Given the description of an element on the screen output the (x, y) to click on. 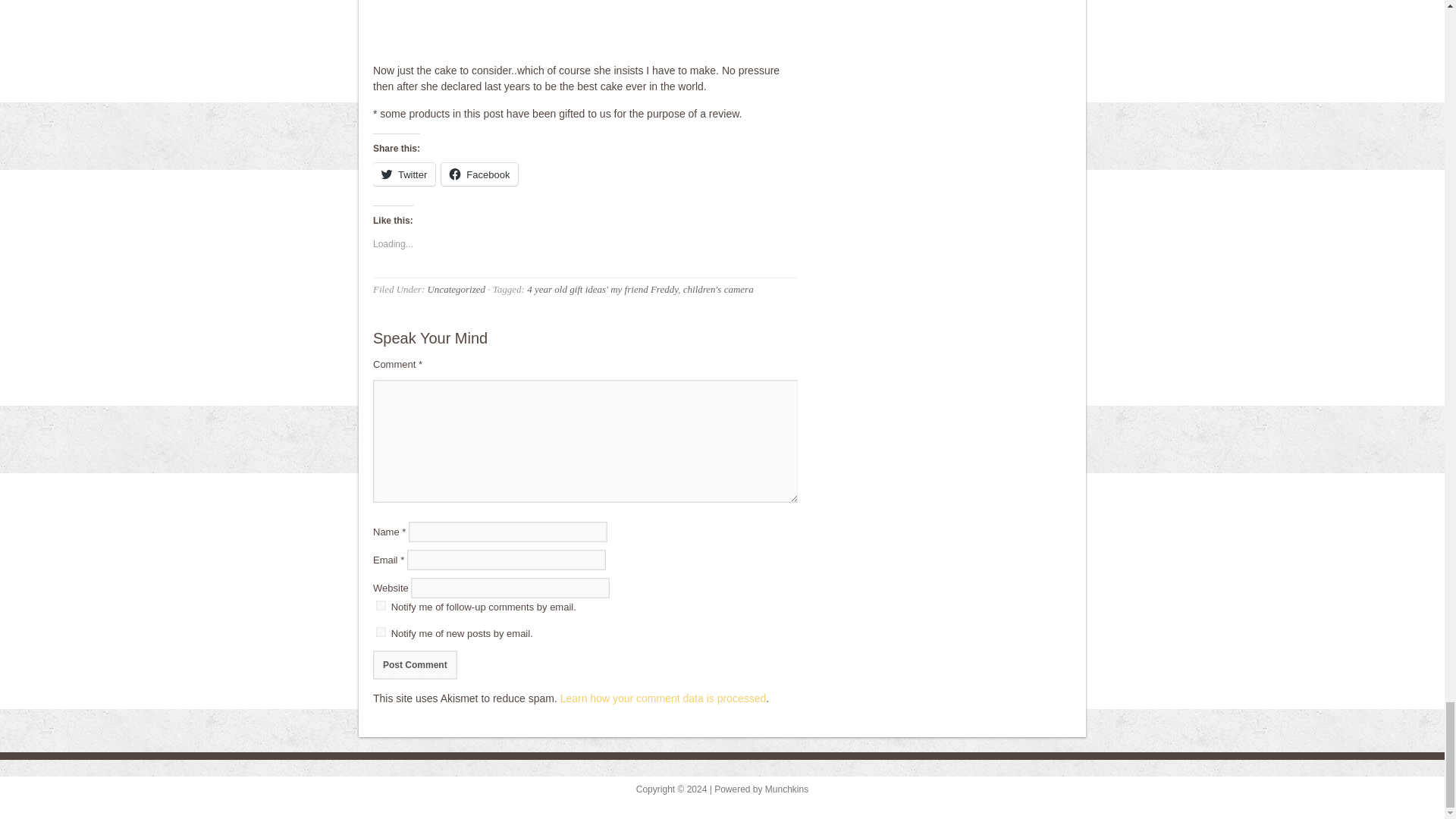
Twitter (403, 173)
Learn how your comment data is processed (663, 698)
subscribe (380, 605)
Uncategorized (455, 288)
Post Comment (414, 664)
subscribe (380, 632)
Click to share on Twitter (403, 173)
Facebook (479, 173)
Click to share on Facebook (479, 173)
Post Comment (414, 664)
